Given the description of an element on the screen output the (x, y) to click on. 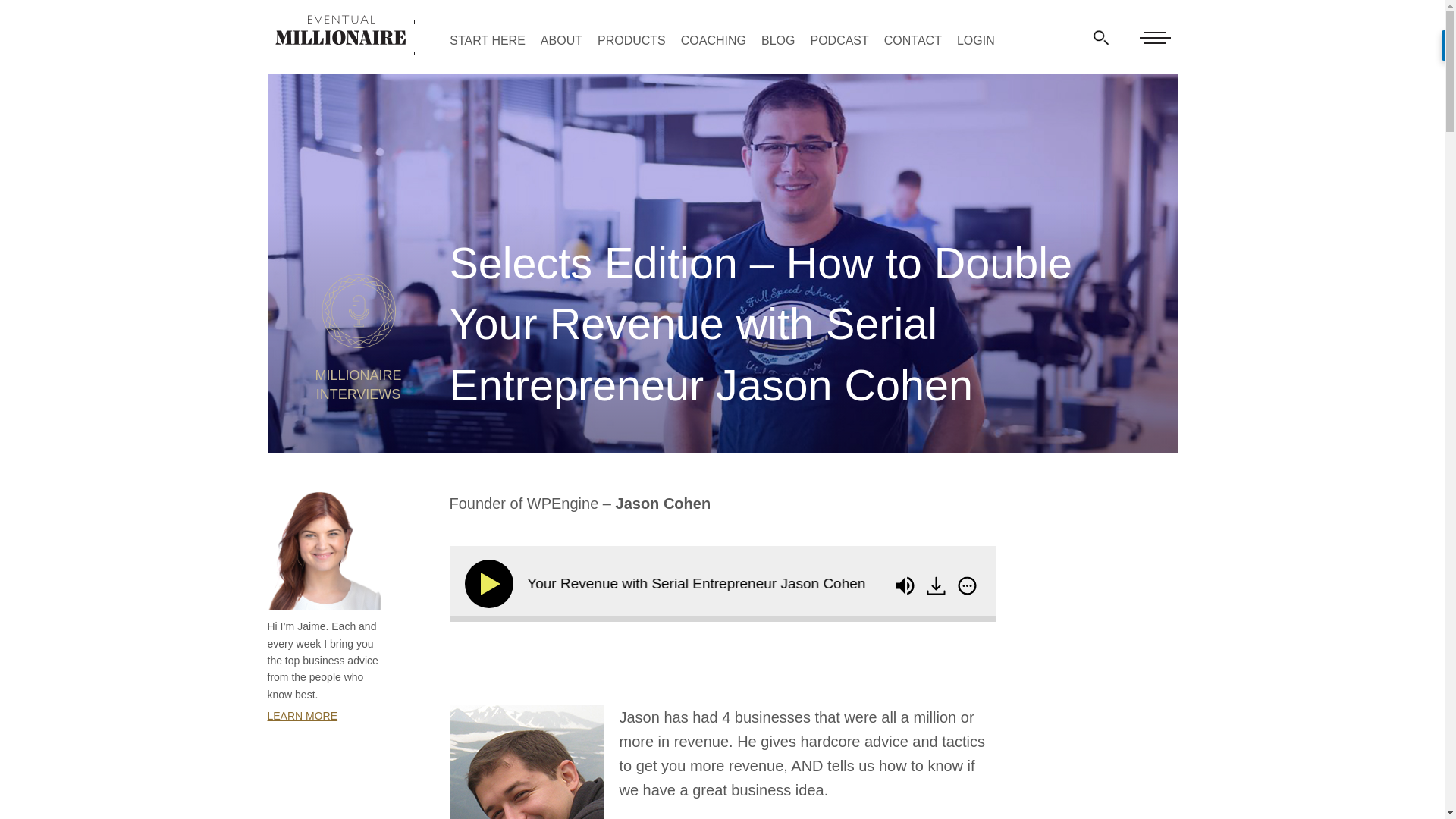
COACHING (713, 39)
BLOG (777, 39)
PRODUCTS (630, 39)
More (966, 585)
LOGIN (975, 39)
Download (938, 586)
CONTACT (912, 39)
MILLIONAIRE INTERVIEWS (357, 400)
START HERE (487, 39)
PODCAST (838, 39)
Download (936, 585)
ABOUT (561, 39)
